Given the description of an element on the screen output the (x, y) to click on. 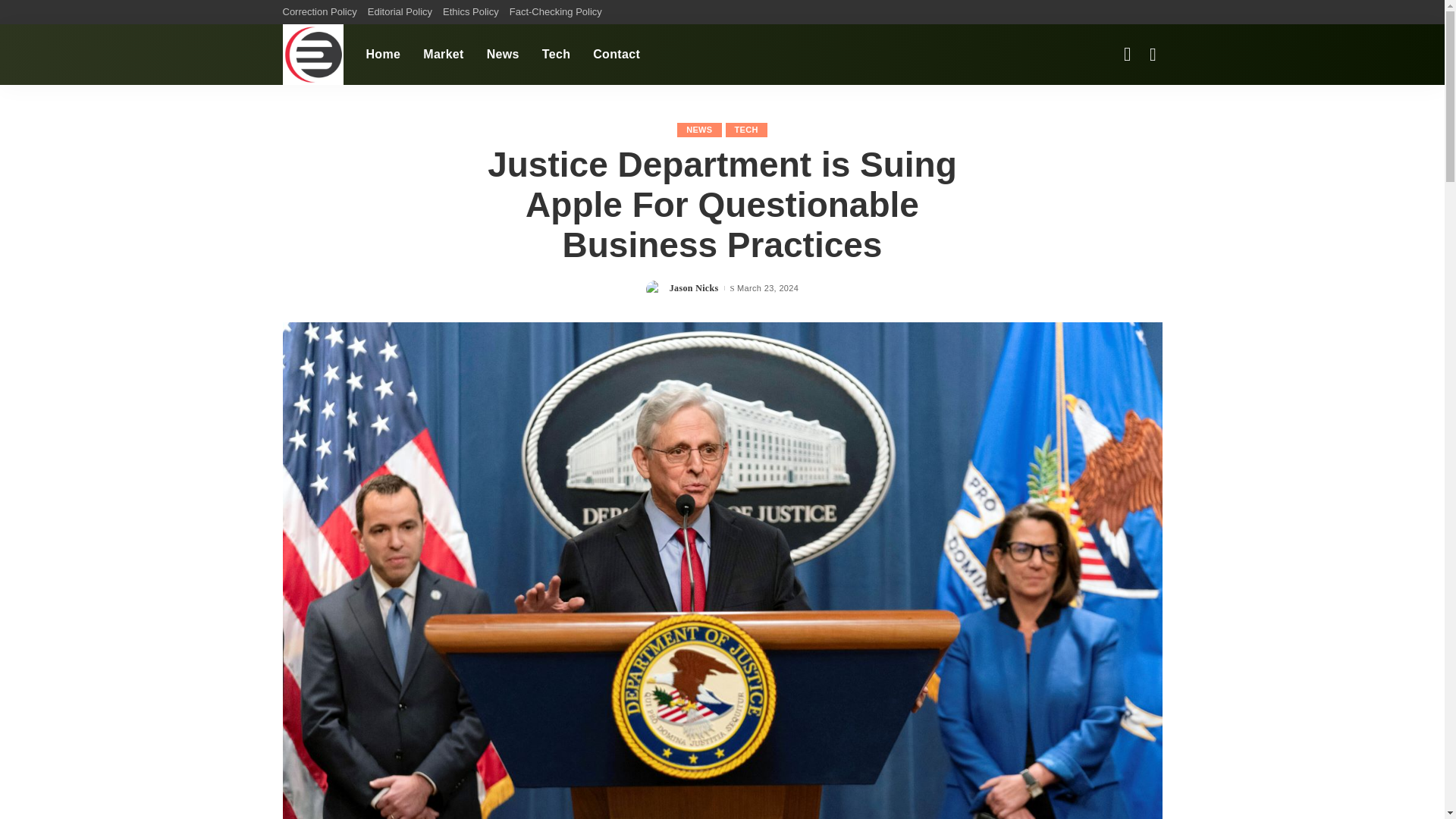
Ethics Policy (470, 11)
Correction Policy (321, 11)
NEWS (698, 129)
Contact (615, 53)
Tech (555, 53)
Market (444, 53)
Home (383, 53)
TECH (746, 129)
Search (1140, 11)
Editorial Policy (400, 11)
